Given the description of an element on the screen output the (x, y) to click on. 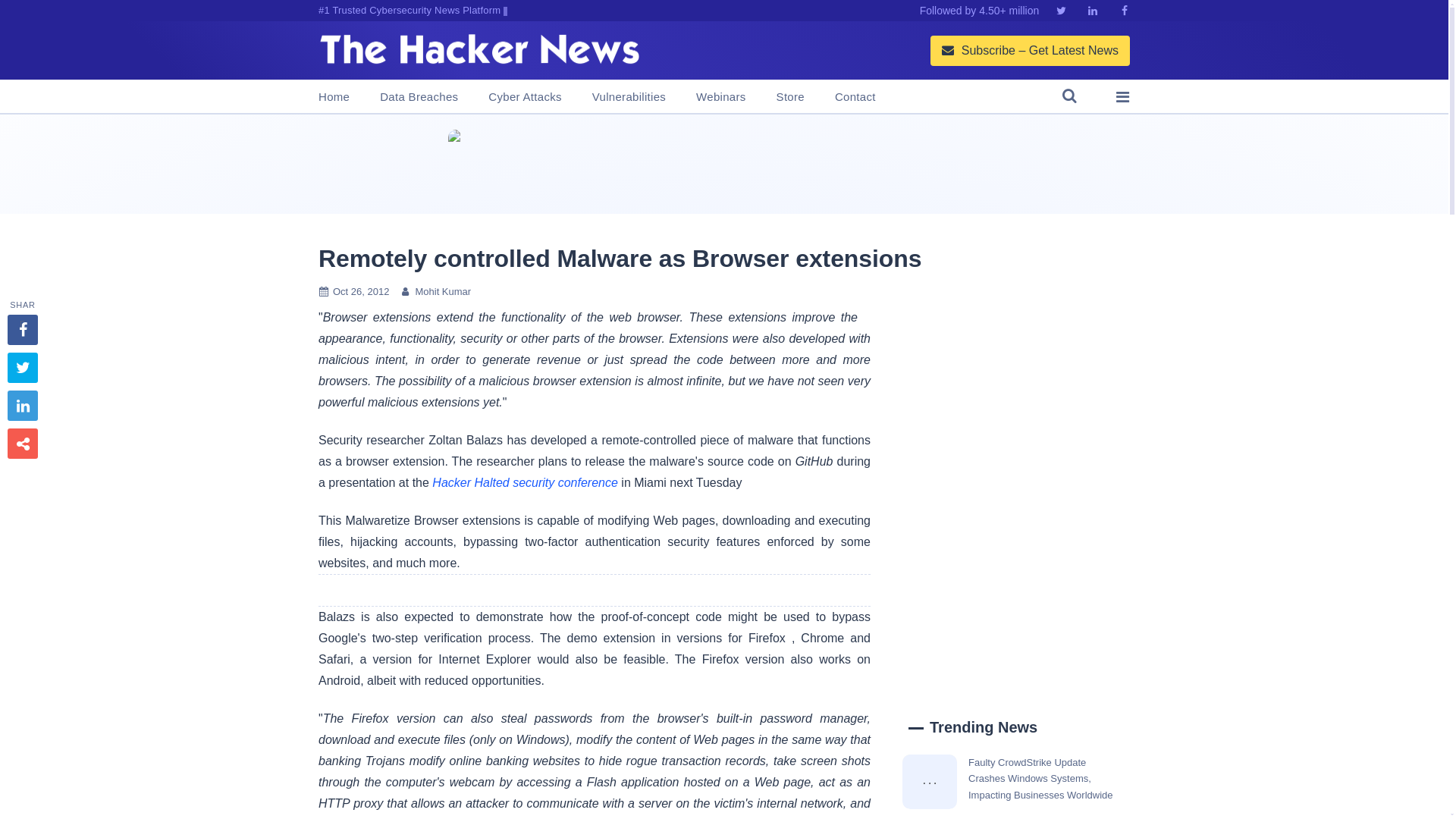
Home (333, 96)
Cyber Attacks (523, 96)
Remotely controlled Malware as Browser extensions (619, 257)
Webinars (720, 96)
Vulnerabilities (628, 96)
Store (790, 96)
Hacker Halted security conference (524, 481)
Contact (855, 96)
Insider Risk Management (723, 164)
Data Breaches (419, 96)
